Given the description of an element on the screen output the (x, y) to click on. 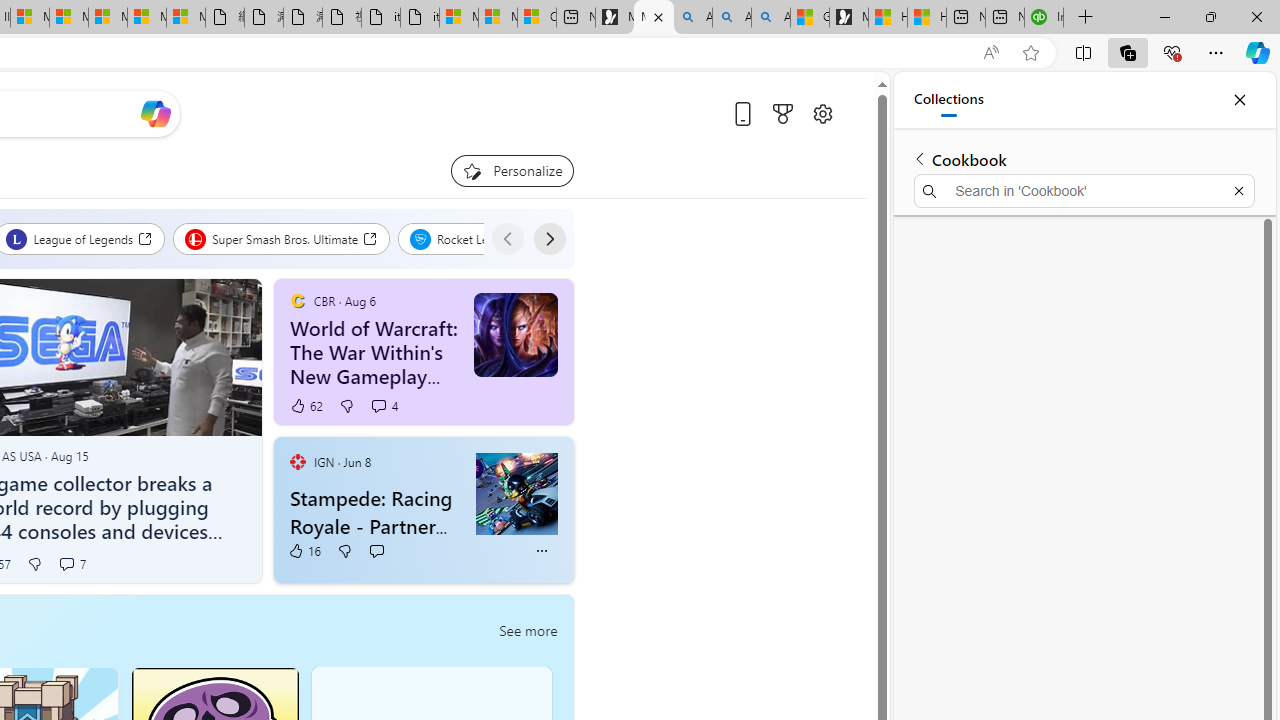
16 Like (303, 551)
itconcepthk.com/projector_solutions.mp4 (419, 17)
Microsoft Services Agreement (68, 17)
Super Smash Bros. Ultimate (282, 238)
Previous (507, 238)
IGN (297, 462)
Alabama high school quarterback dies - Search (692, 17)
Alabama high school quarterback dies - Search Videos (770, 17)
